Given the description of an element on the screen output the (x, y) to click on. 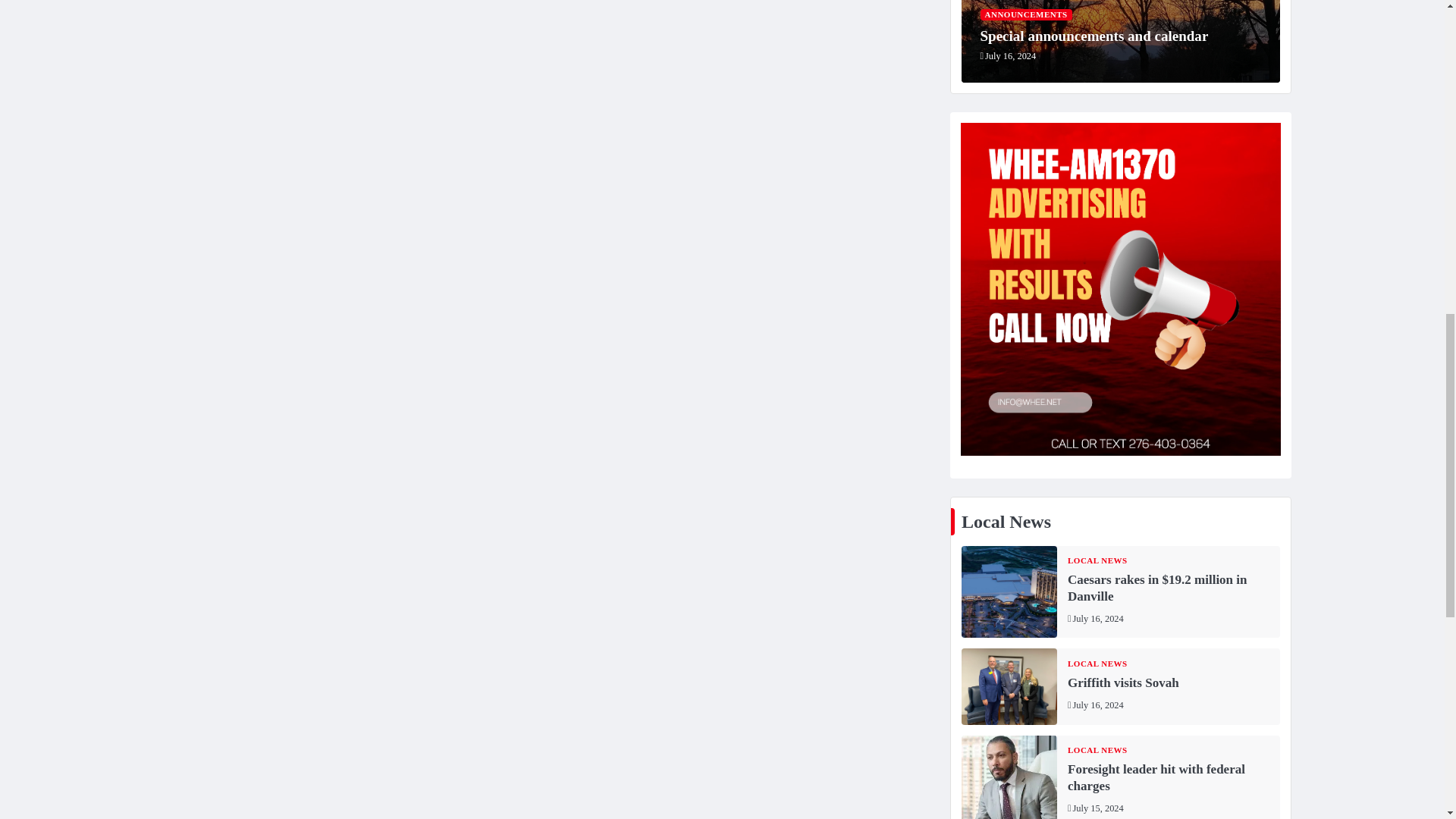
Griffith visits Sovah (1008, 686)
Caesars rakes in .2 million in Danville (1008, 592)
Special announcements and calendar (1119, 41)
Foresight leader hit with federal charges (1008, 777)
ANNOUNCEMENTS (1025, 14)
Special announcements and calendar (1093, 35)
